Given the description of an element on the screen output the (x, y) to click on. 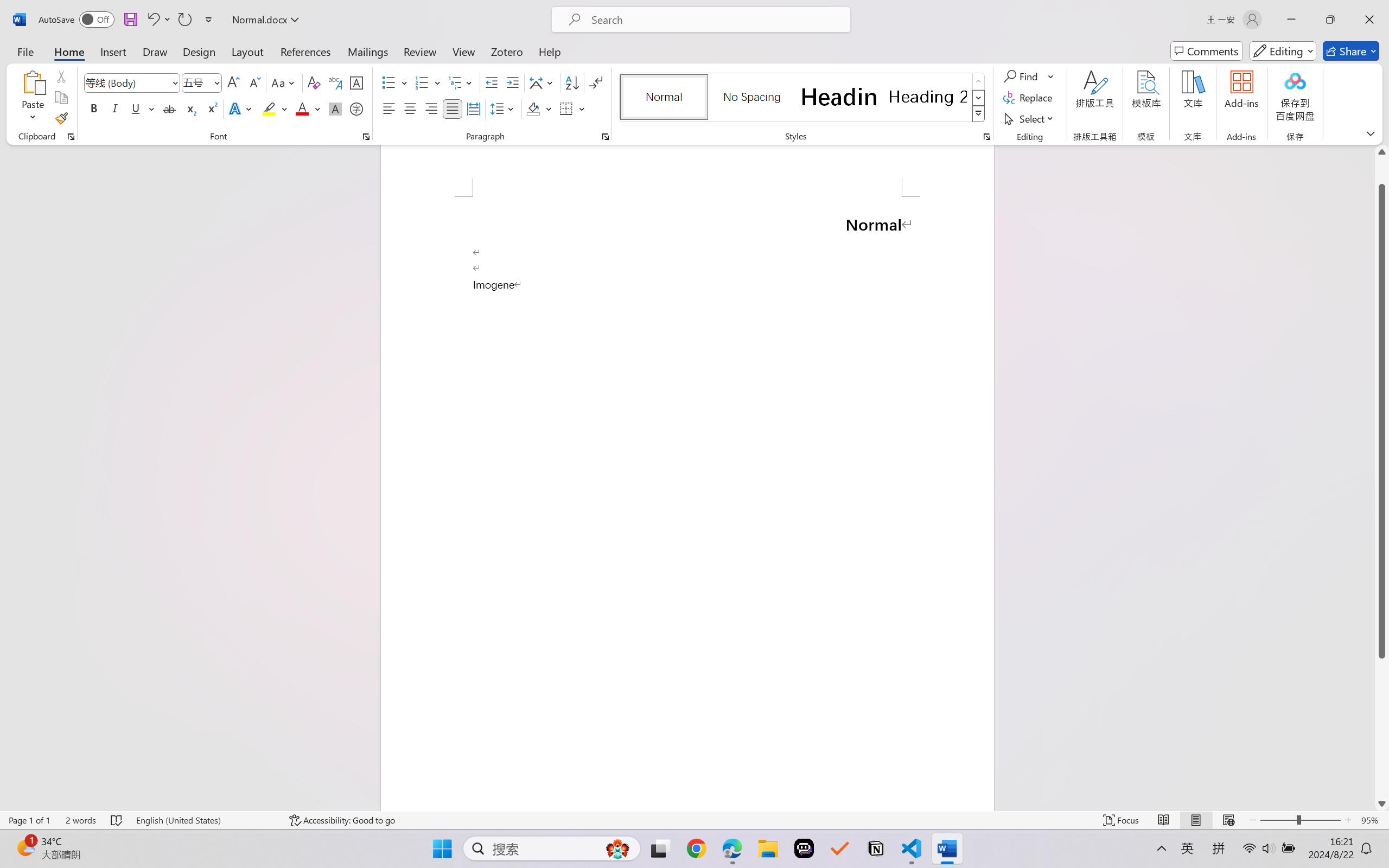
Page up (1382, 171)
Class: MsoCommandBar (694, 819)
Clear Formatting (313, 82)
